Given the description of an element on the screen output the (x, y) to click on. 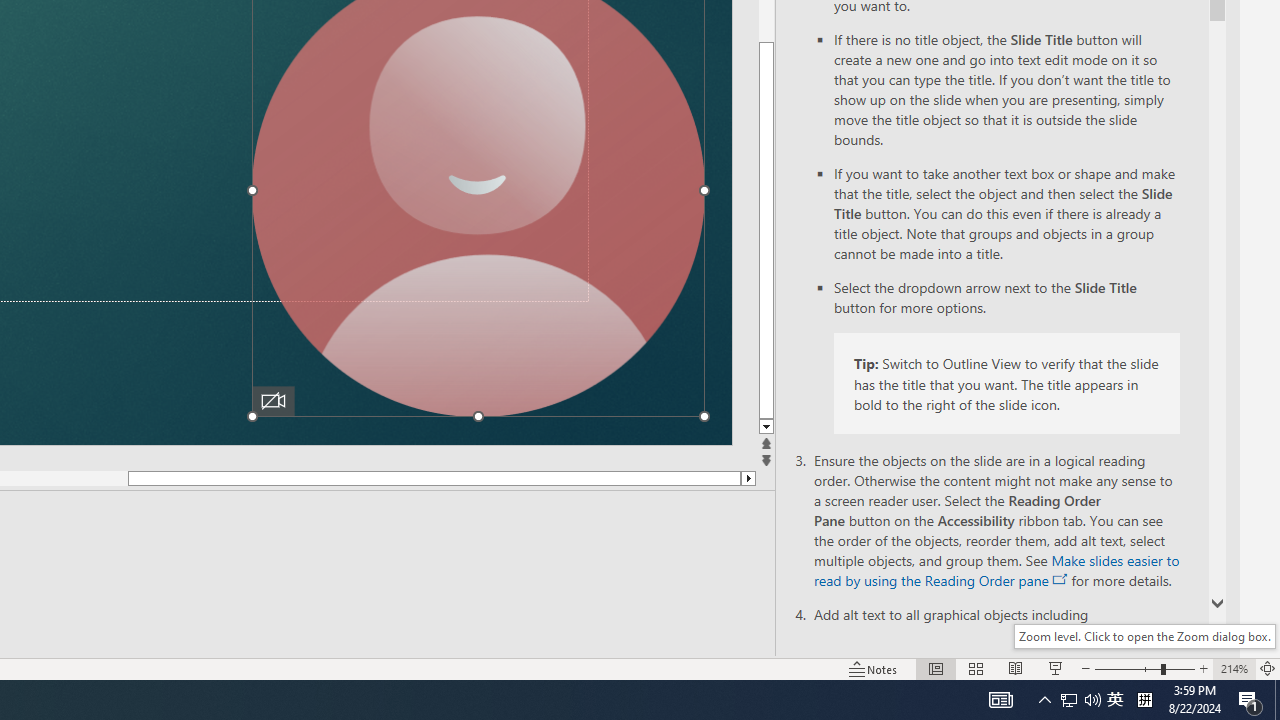
Zoom level. Click to open the Zoom dialog box. (1144, 636)
Zoom 214% (1234, 668)
